Given the description of an element on the screen output the (x, y) to click on. 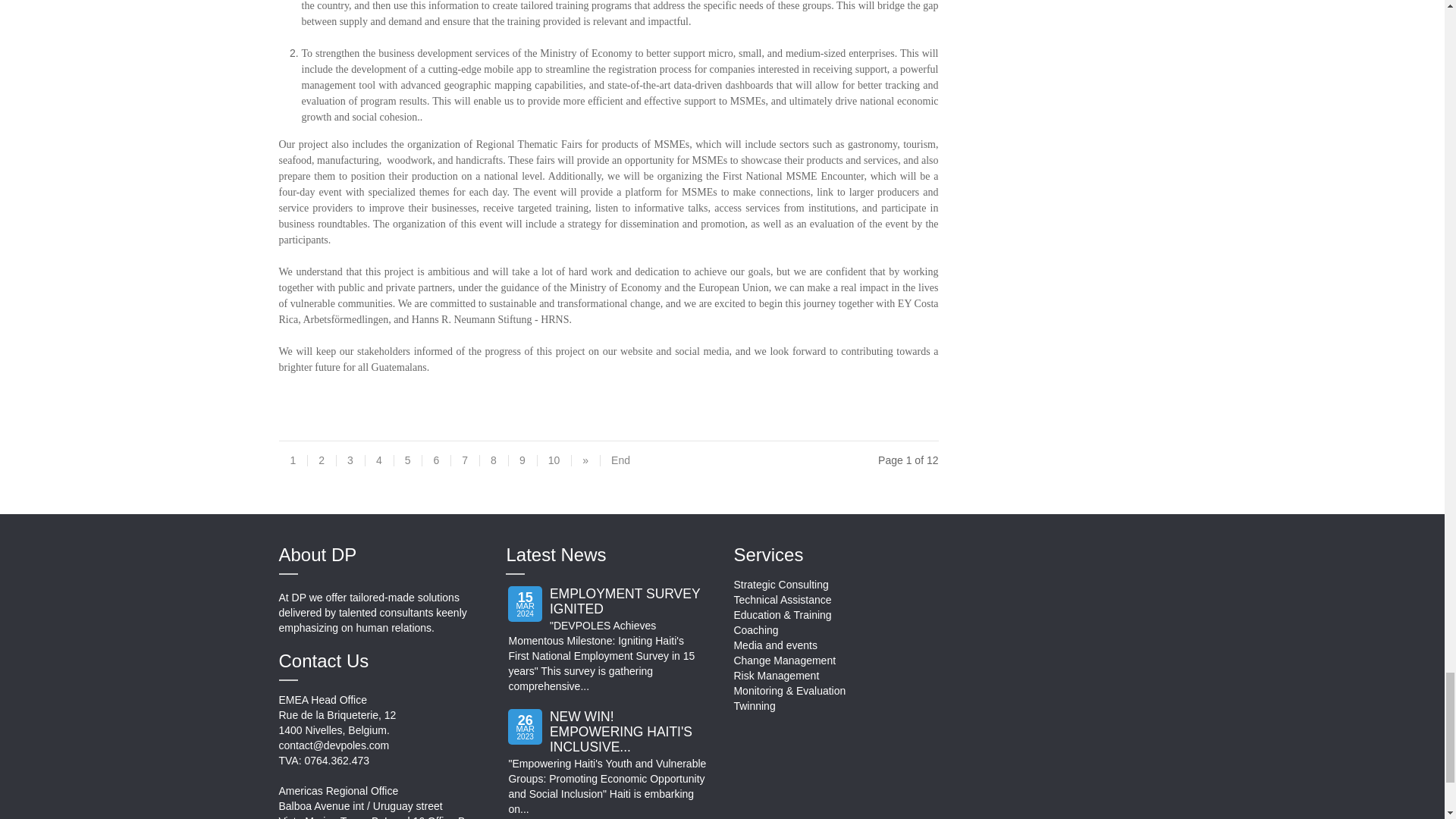
3 (350, 465)
6 (435, 465)
4 (379, 465)
End (620, 465)
7 (464, 465)
2 (321, 465)
10 (554, 465)
9 (522, 465)
8 (493, 465)
5 (407, 465)
